Given the description of an element on the screen output the (x, y) to click on. 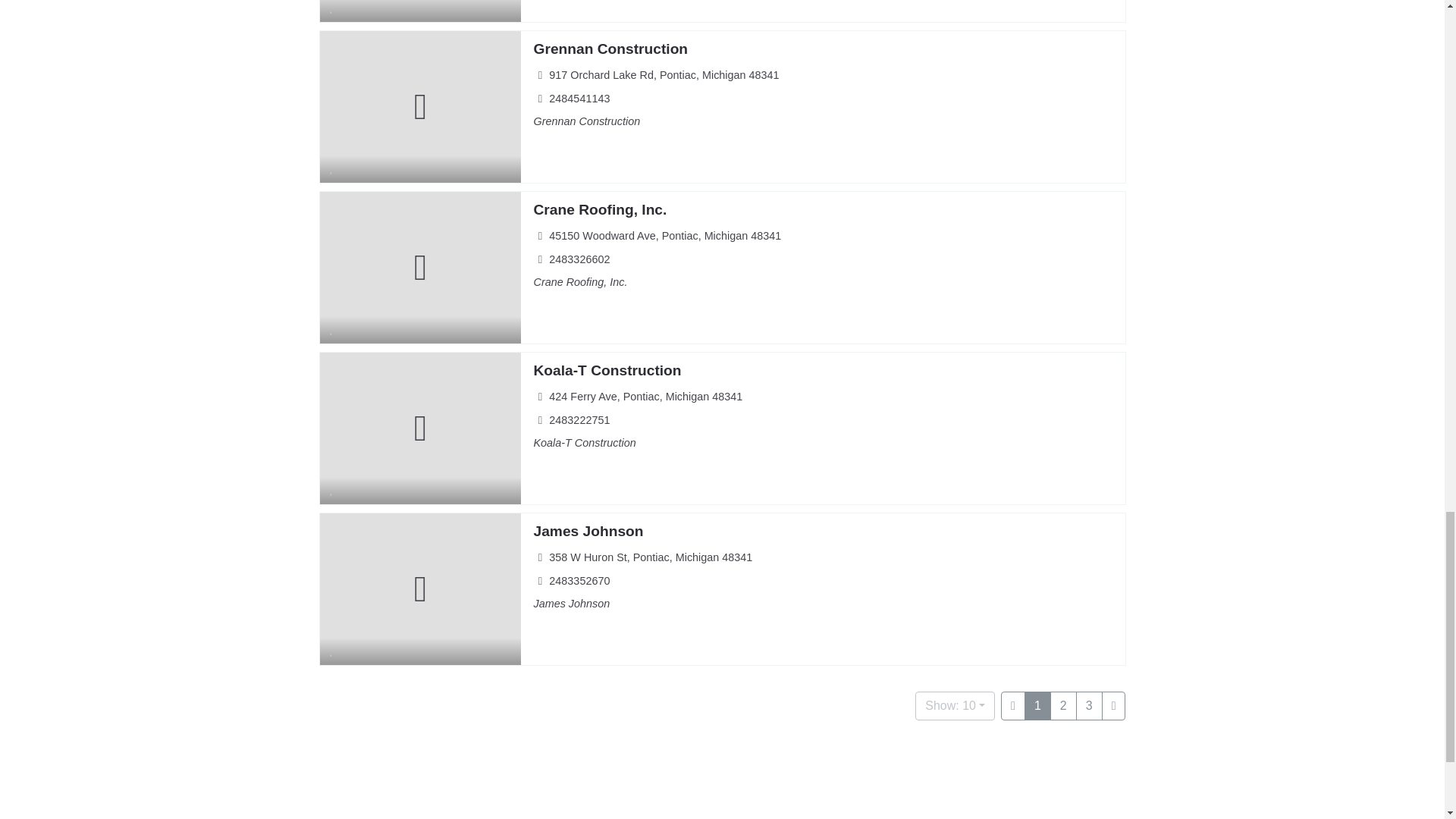
Crane Roofing, Inc. (599, 209)
Grennan Construction (609, 48)
Bookmark (331, 11)
